Given the description of an element on the screen output the (x, y) to click on. 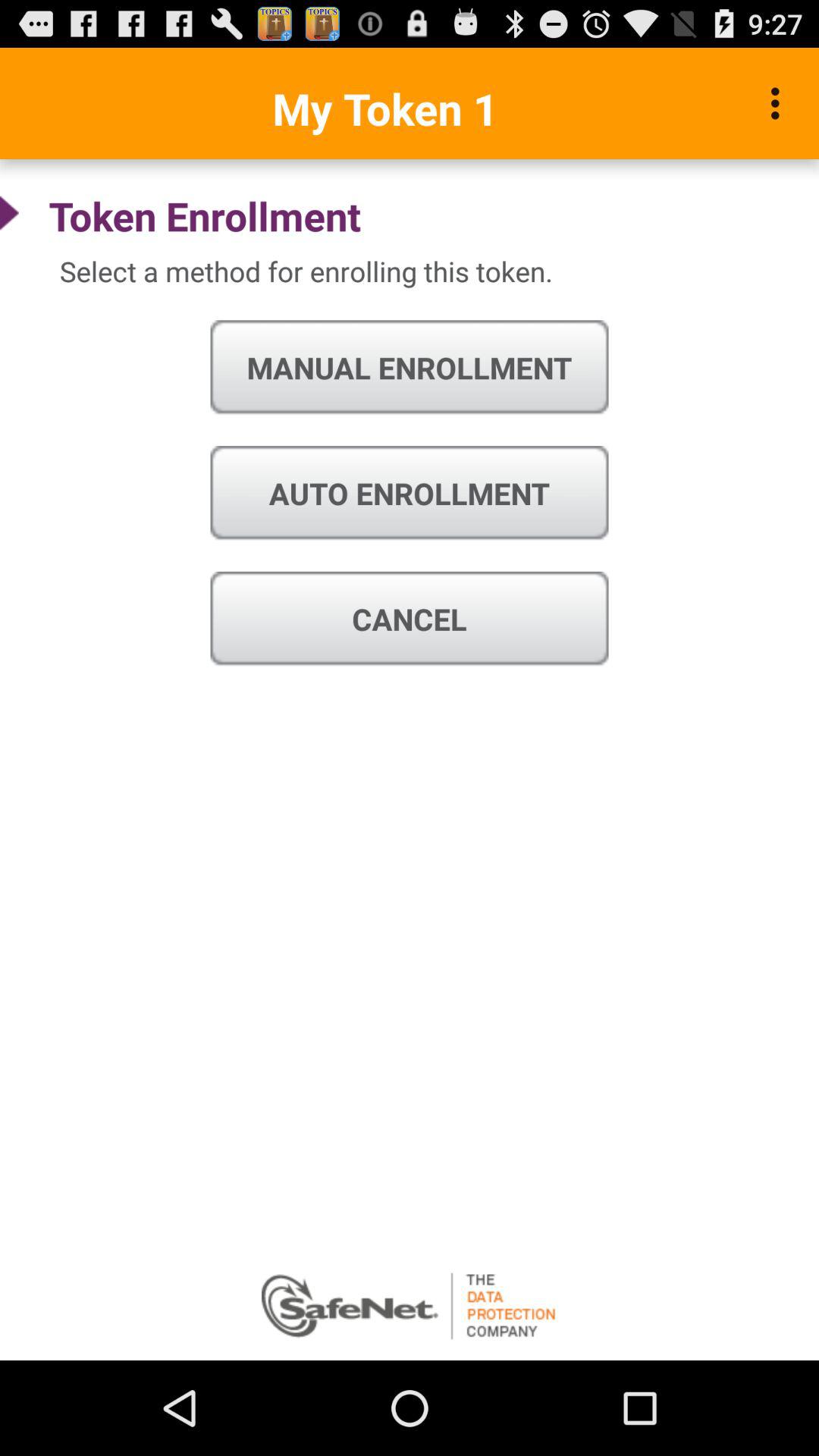
open item next to my token 1 icon (779, 103)
